Given the description of an element on the screen output the (x, y) to click on. 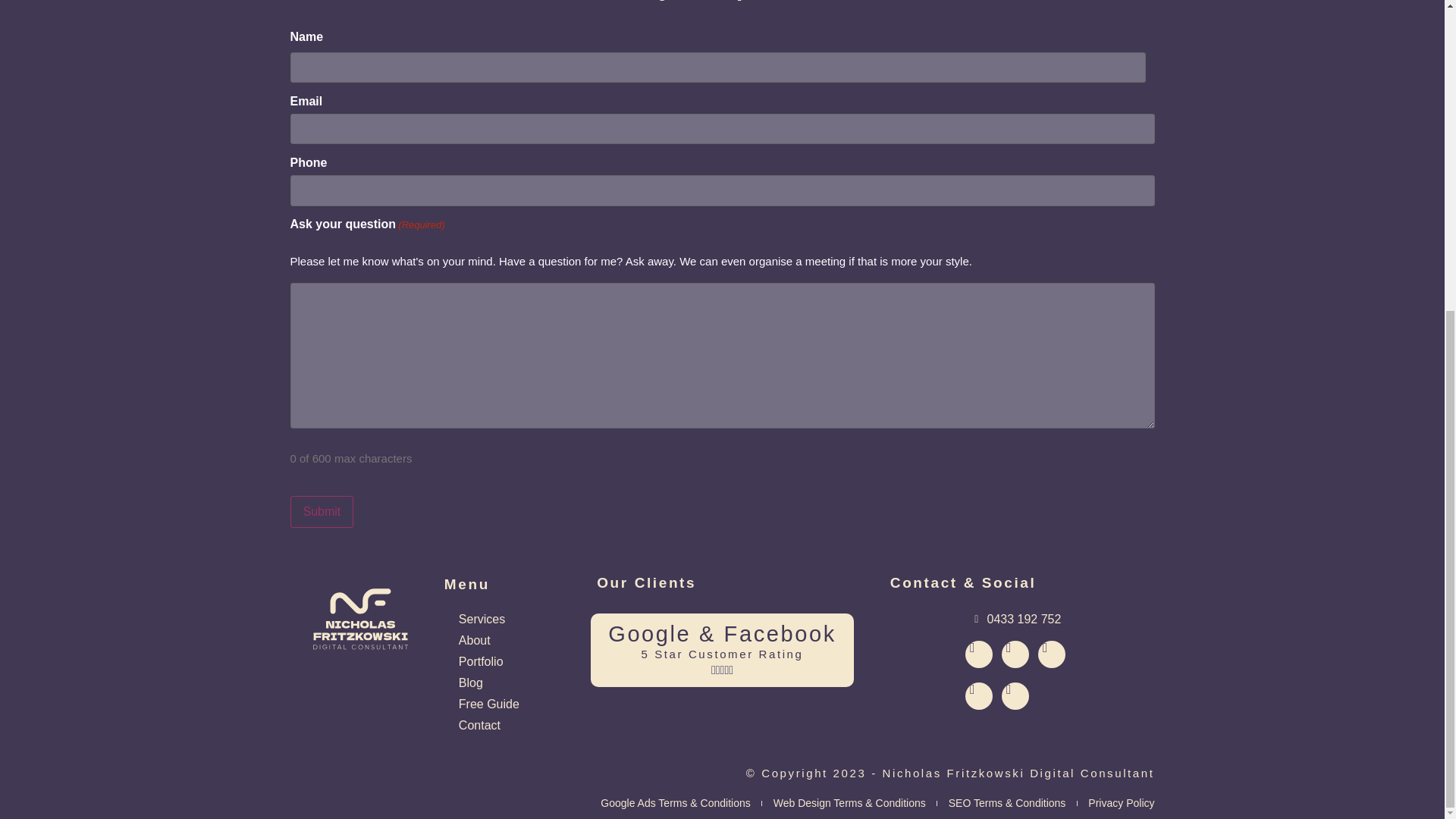
0433 192 752 (1015, 619)
About (468, 640)
Submit (321, 511)
Portfolio (474, 661)
Blog (464, 682)
Submit (321, 511)
Free Guide (482, 703)
Contact (473, 725)
Services (475, 619)
